Given the description of an element on the screen output the (x, y) to click on. 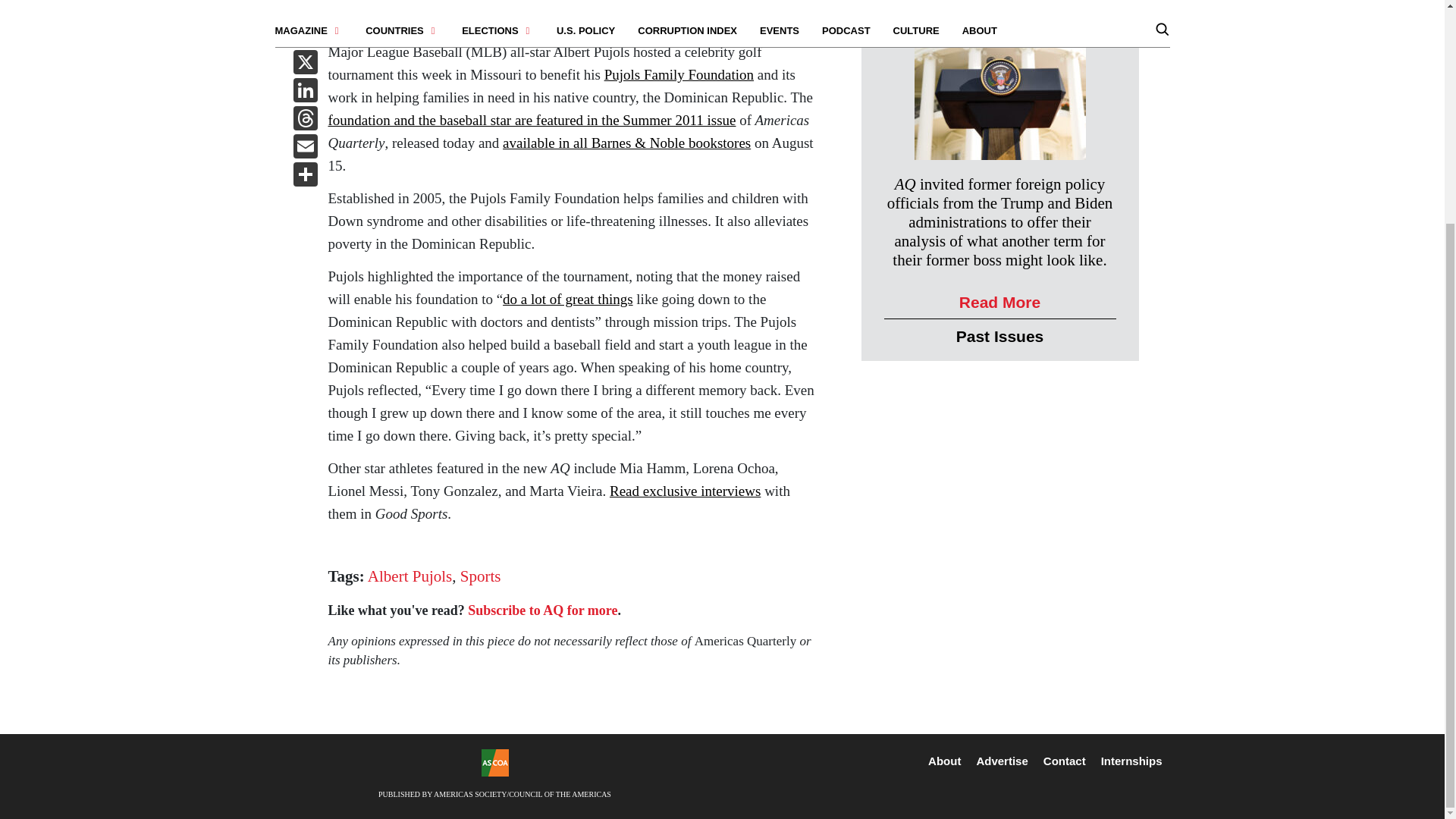
Email (304, 148)
LinkedIn (304, 91)
X (304, 63)
Facebook (304, 35)
Threads (304, 120)
